Given the description of an element on the screen output the (x, y) to click on. 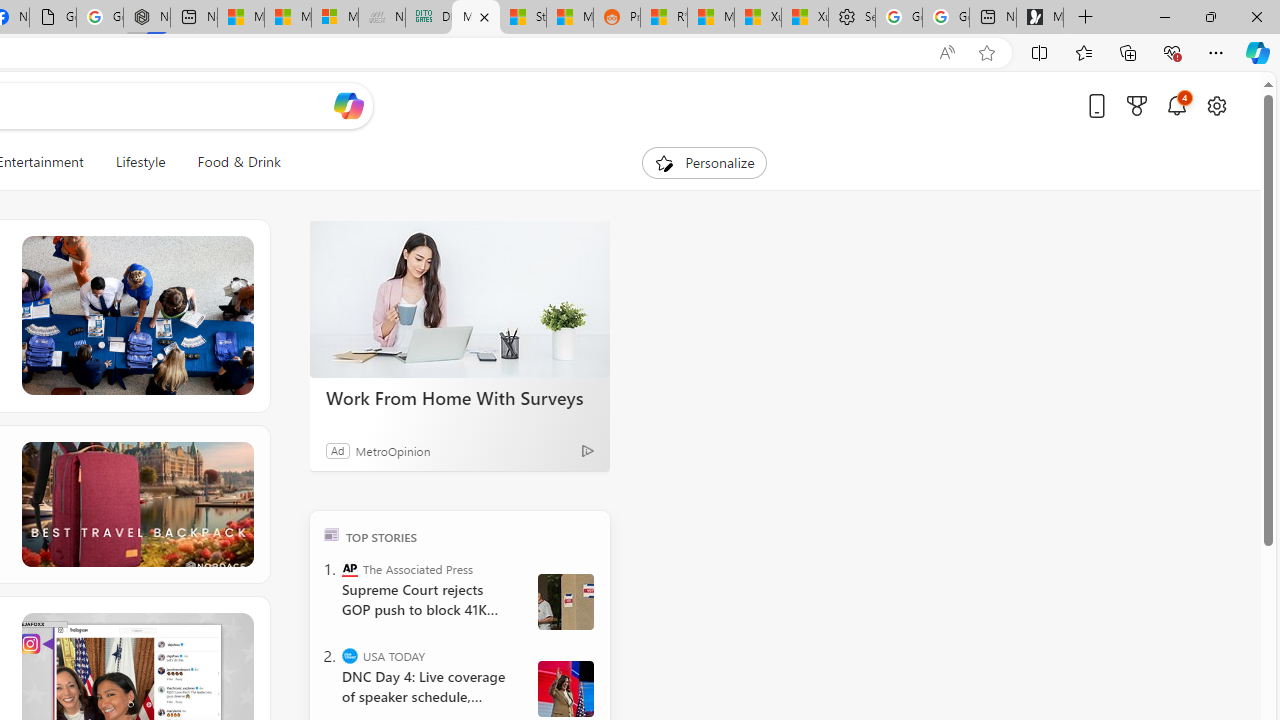
R******* | Trusted Community Engagement and Contributions (664, 17)
Work From Home With Surveys (459, 299)
The Associated Press (349, 568)
Work From Home With Surveys (459, 397)
